Given the description of an element on the screen output the (x, y) to click on. 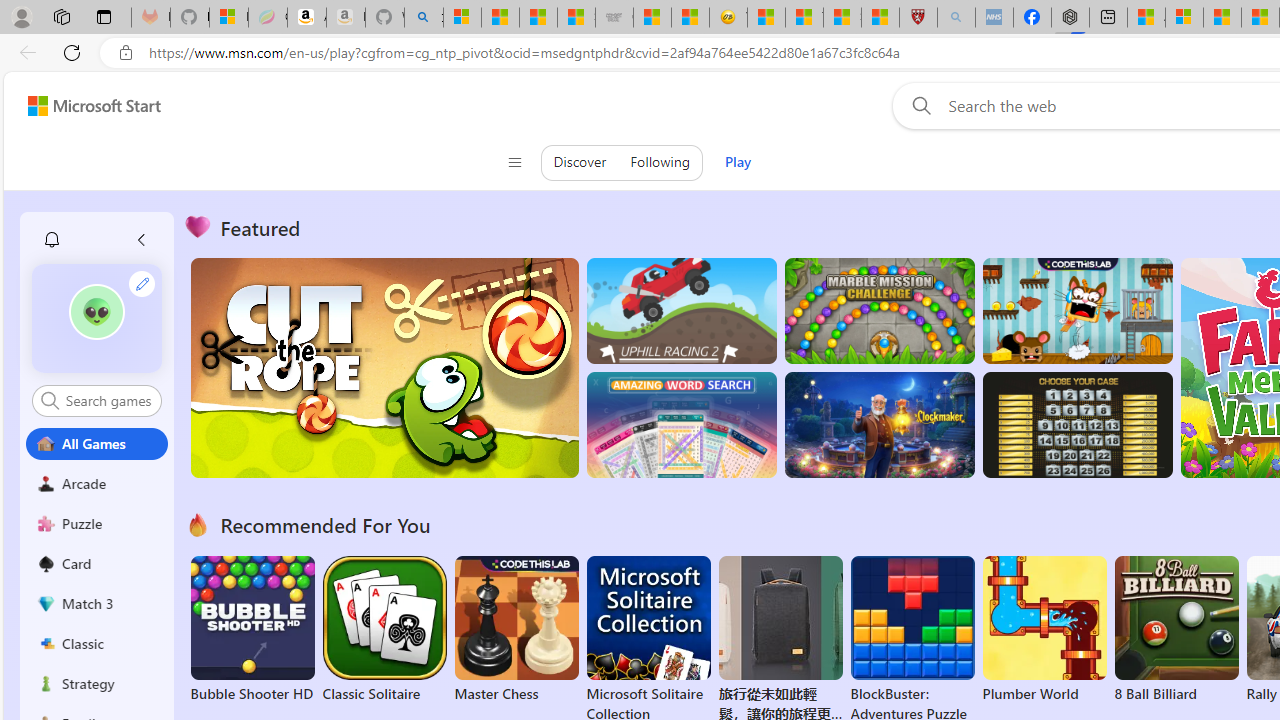
8 Ball Billiard (1176, 629)
Bubble Shooter HD (251, 629)
Class: notification-item (51, 239)
Up Hill Racing 2 (681, 310)
Deal or No Deal (1076, 425)
Class: profile-edit (142, 283)
